Given the description of an element on the screen output the (x, y) to click on. 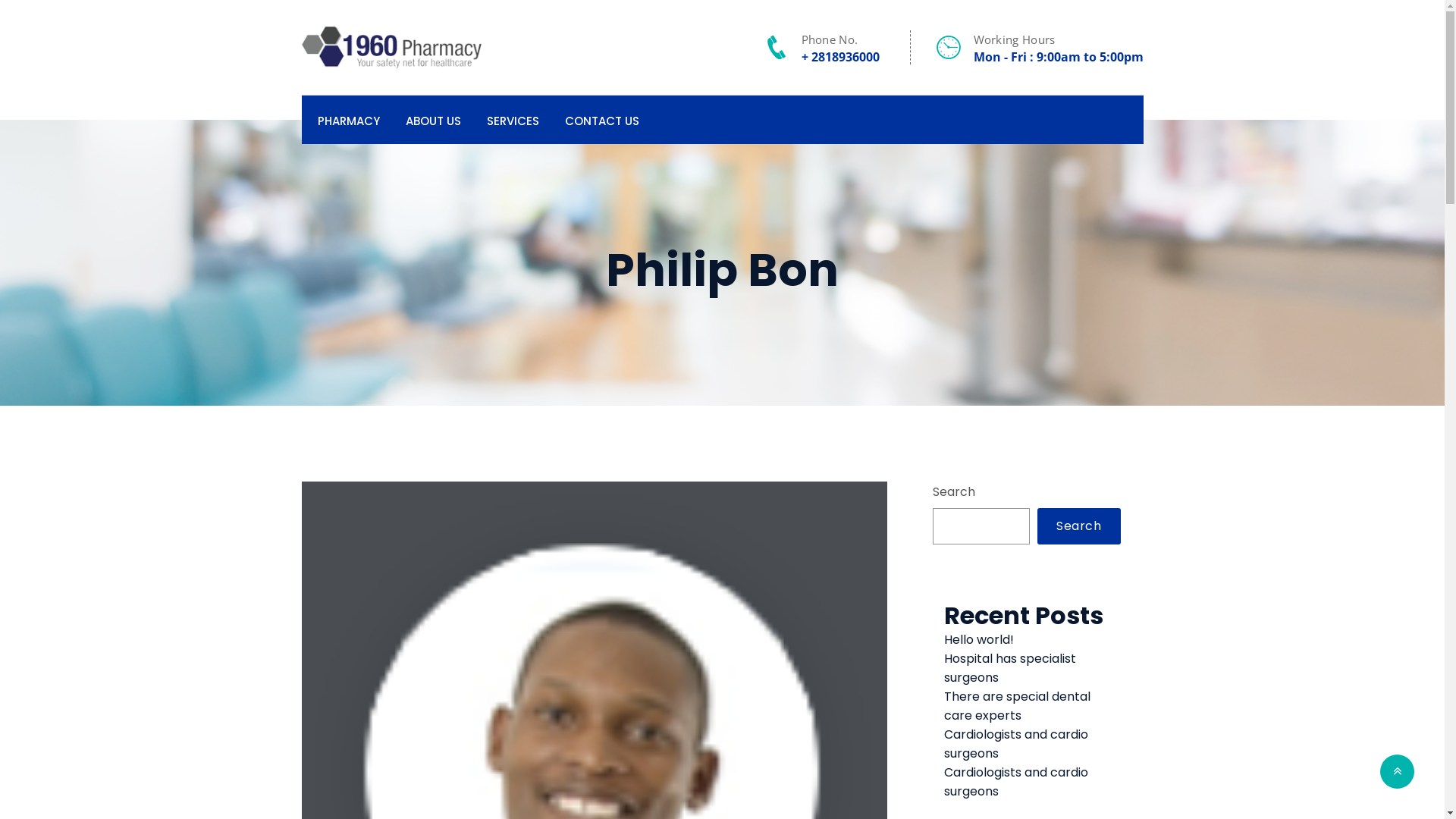
CONTACT US Element type: text (601, 120)
Cardiologists and cardio surgeons Element type: text (1016, 781)
PHARMACY Element type: text (347, 120)
There are special dental care experts Element type: text (1017, 705)
SERVICES Element type: text (512, 120)
+ 2818936000 Element type: text (839, 56)
ABOUT US Element type: text (432, 120)
Search Element type: text (1078, 525)
Cardiologists and cardio surgeons Element type: text (1016, 743)
Hello world! Element type: text (978, 639)
Hospital has specialist surgeons Element type: text (1010, 667)
